Given the description of an element on the screen output the (x, y) to click on. 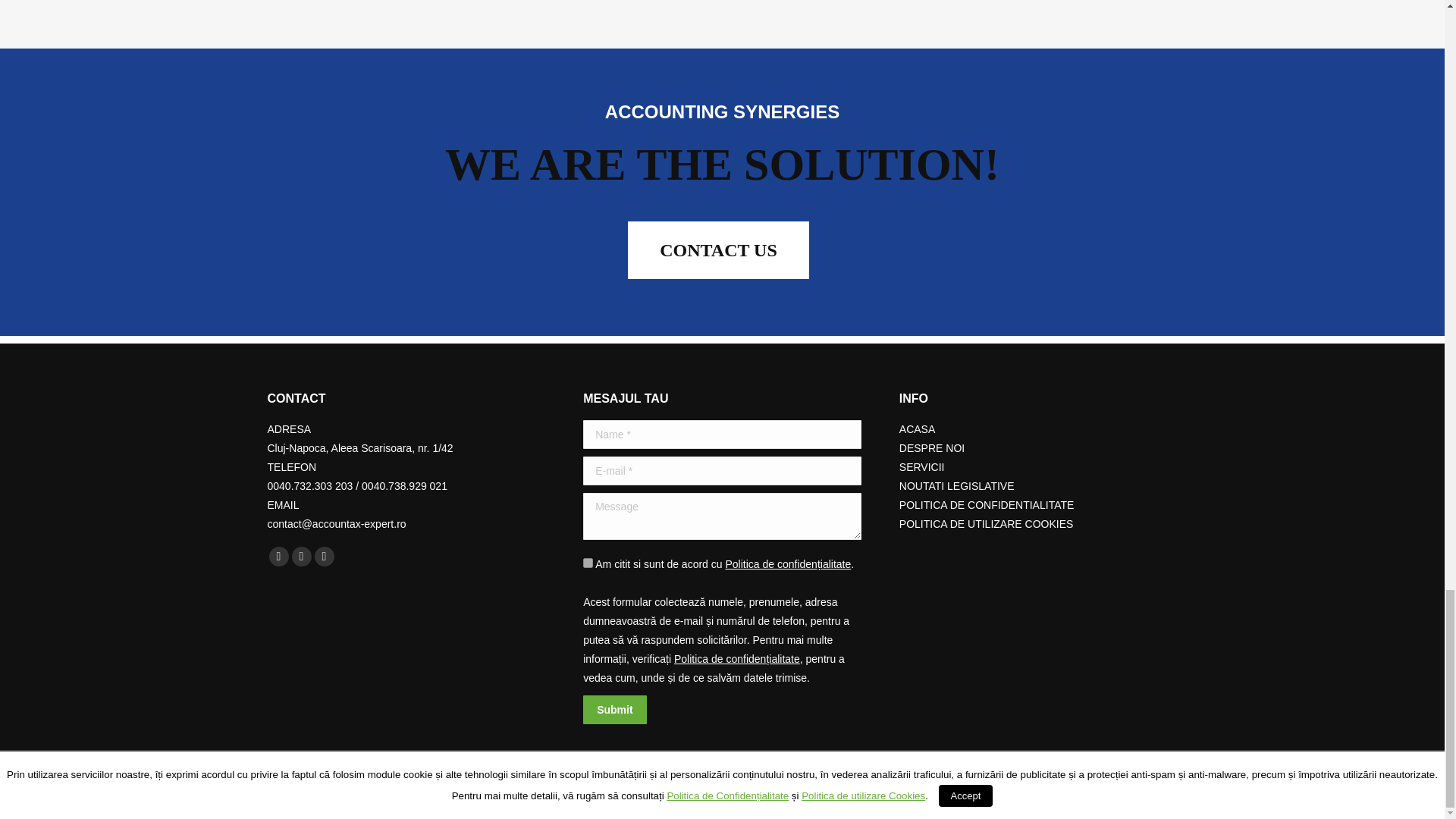
on (587, 562)
submit (684, 709)
